Given the description of an element on the screen output the (x, y) to click on. 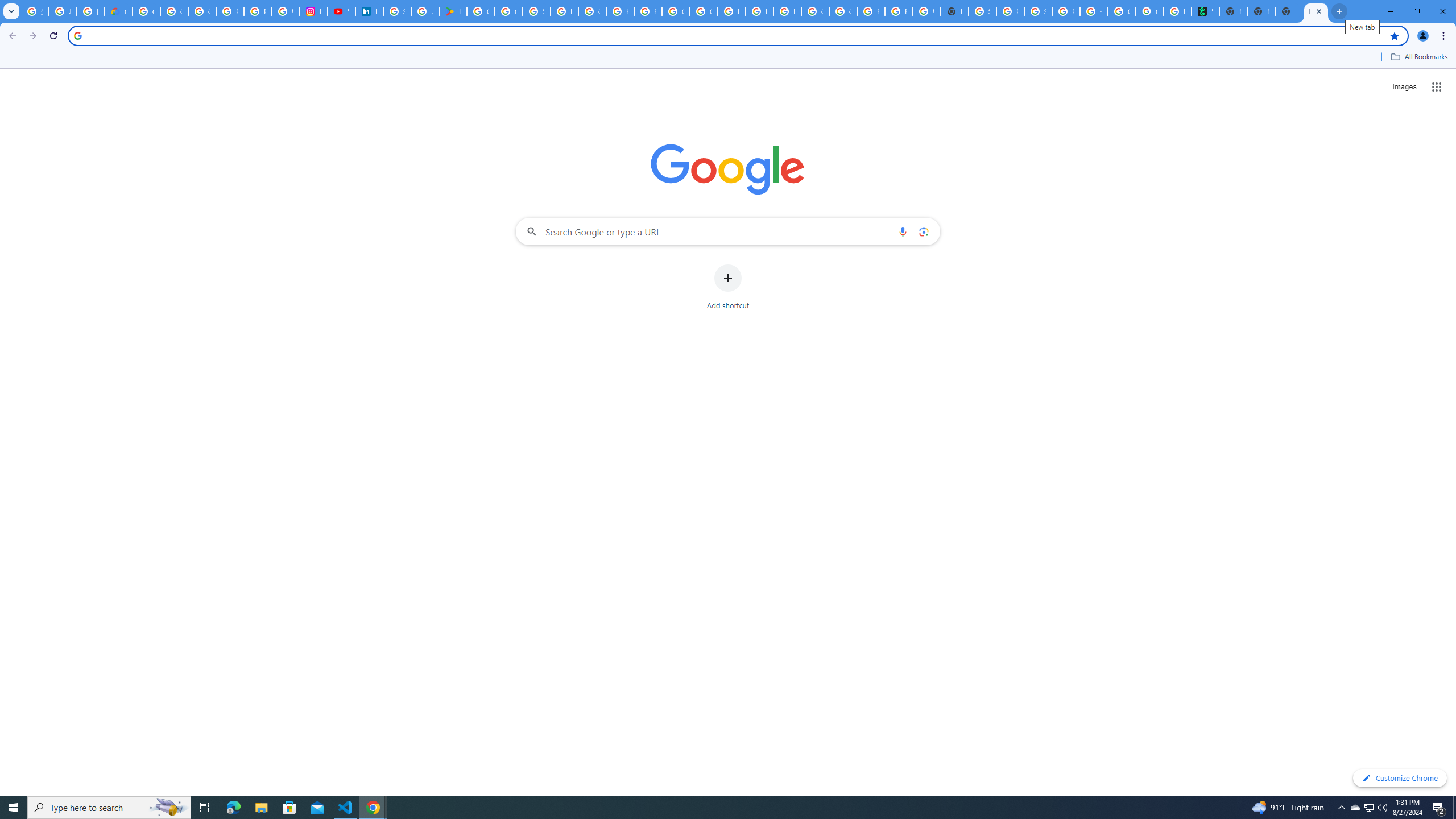
Add shortcut (727, 287)
Browse Chrome as a guest - Computer - Google Chrome Help (759, 11)
Browse Chrome as a guest - Computer - Google Chrome Help (870, 11)
How do I create a new Google Account? - Google Account Help (620, 11)
YouTube Culture & Trends - On The Rise: Handcam Videos (341, 11)
